Given the description of an element on the screen output the (x, y) to click on. 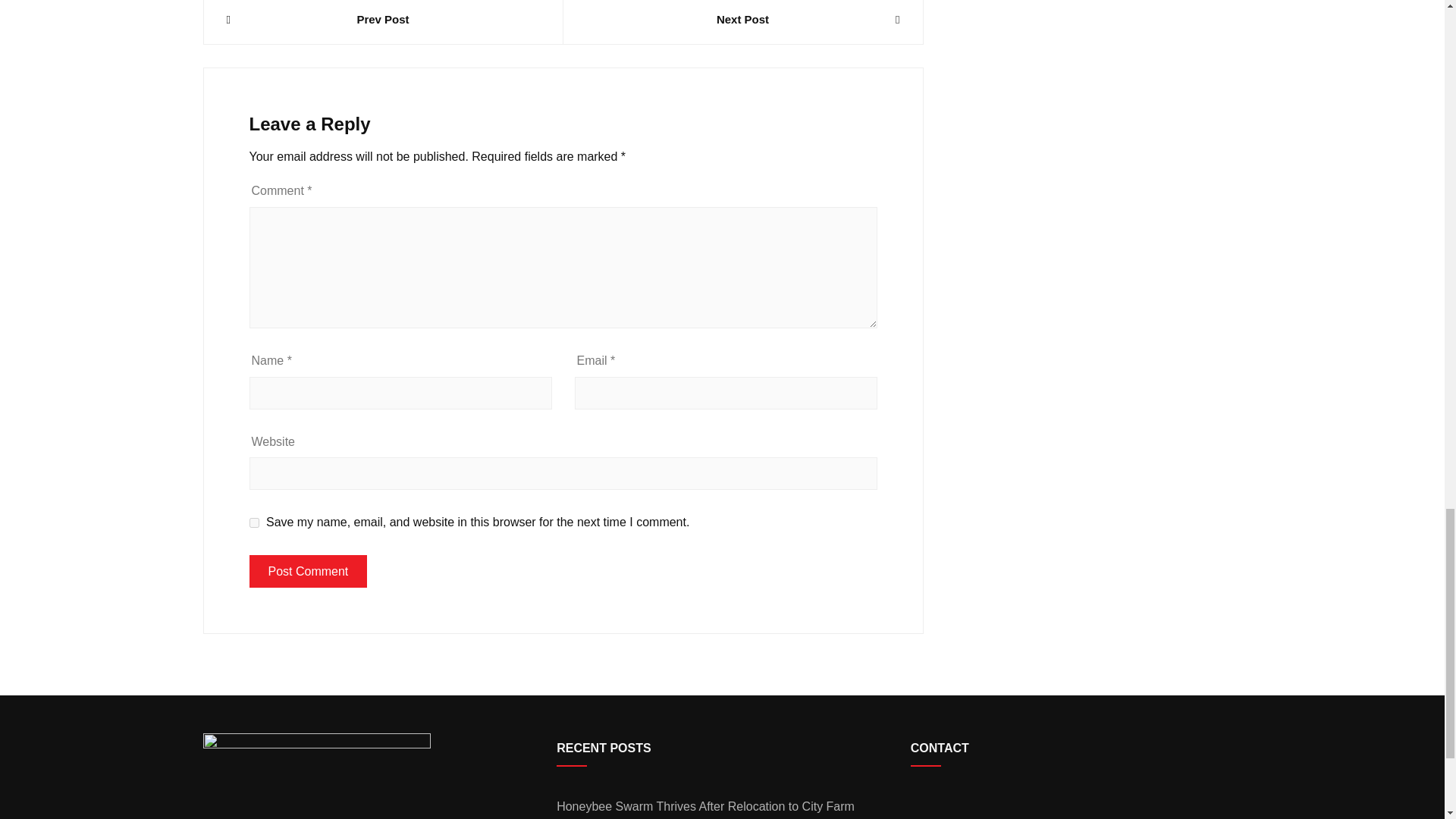
Post Comment (307, 571)
Post Comment (307, 571)
Prev Post (381, 19)
yes (253, 522)
Next Post (742, 19)
